Given the description of an element on the screen output the (x, y) to click on. 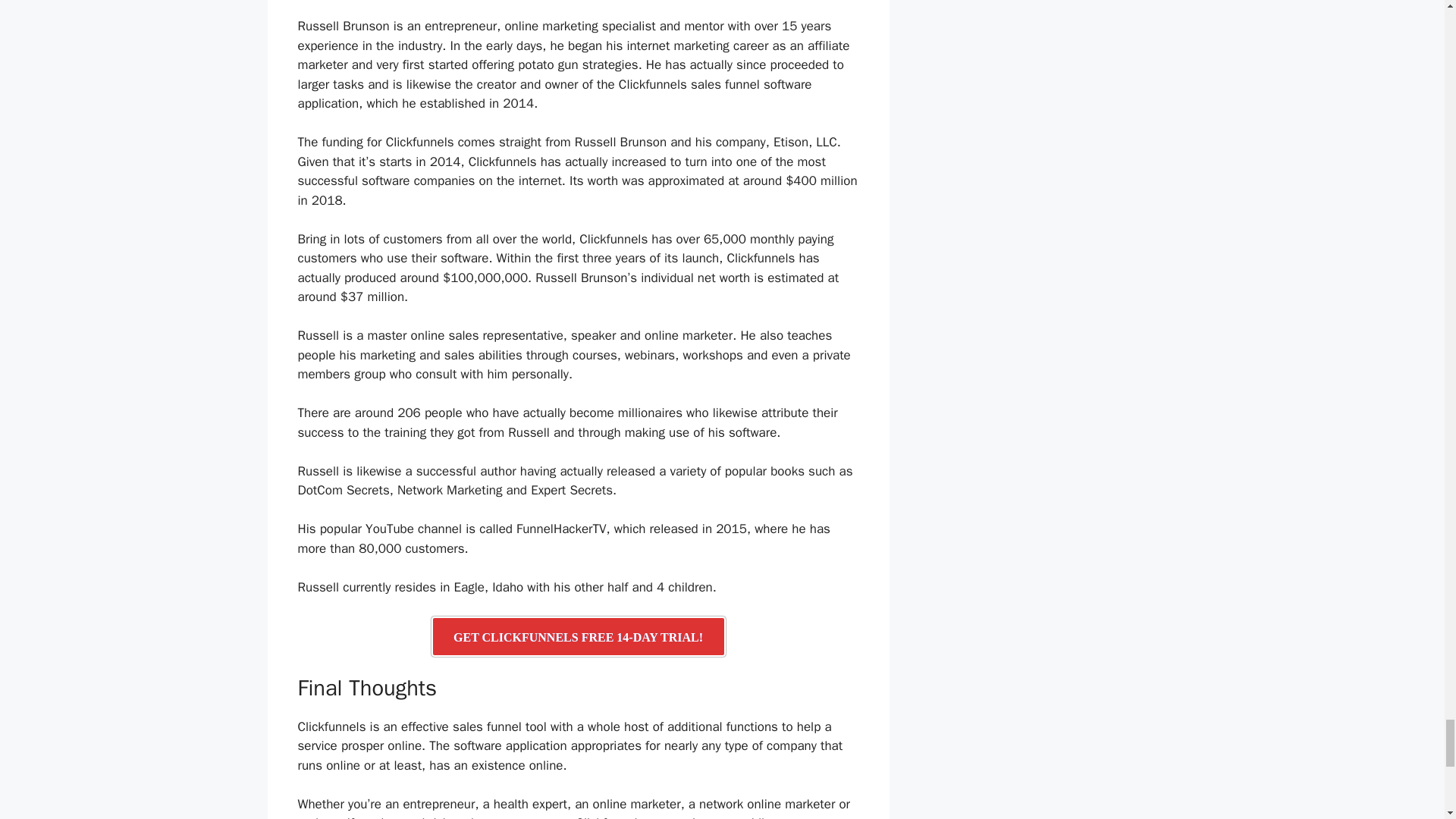
GET CLICKFUNNELS FREE 14-DAY TRIAL! (577, 636)
